Given the description of an element on the screen output the (x, y) to click on. 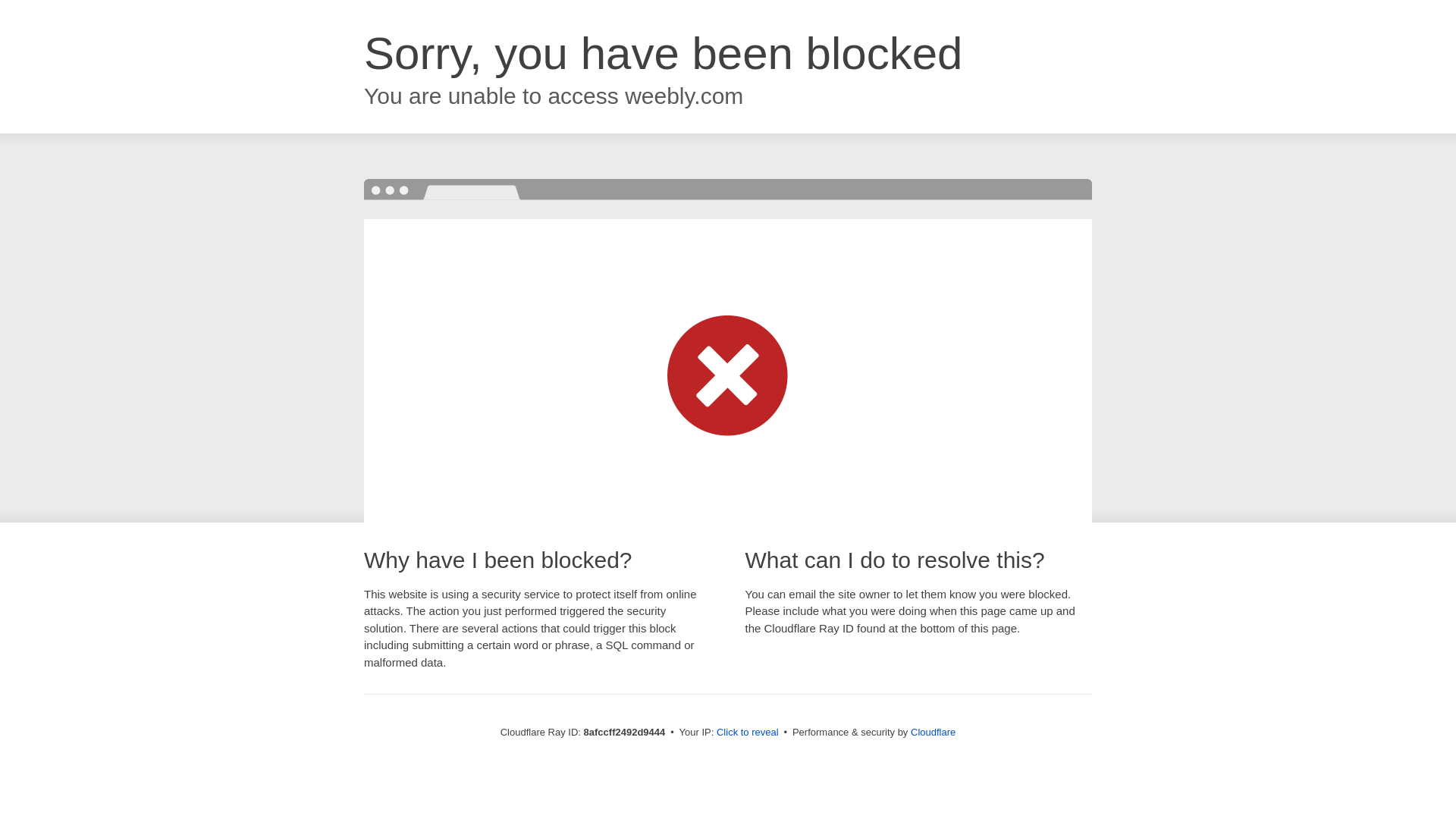
Click to reveal (747, 732)
Cloudflare (933, 731)
